Given the description of an element on the screen output the (x, y) to click on. 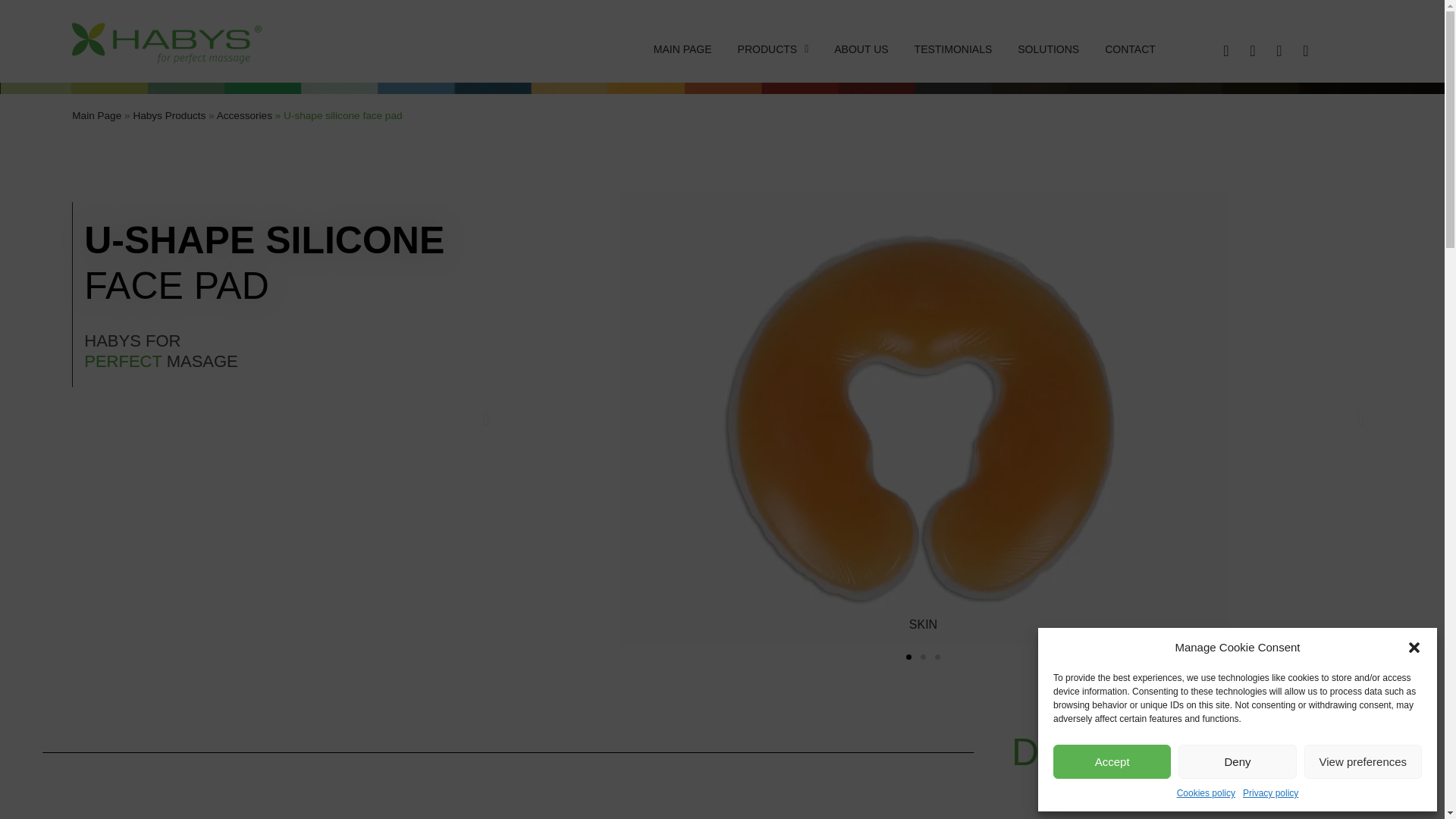
Deny (1236, 761)
Cookies policy (1205, 793)
CONTACT (1130, 48)
ABOUT US (861, 48)
Privacy policy (1270, 793)
SOLUTIONS (1048, 48)
MAIN PAGE (682, 48)
TESTIMONIALS (953, 48)
habys-logo250 (166, 42)
View preferences (1363, 761)
